Given the description of an element on the screen output the (x, y) to click on. 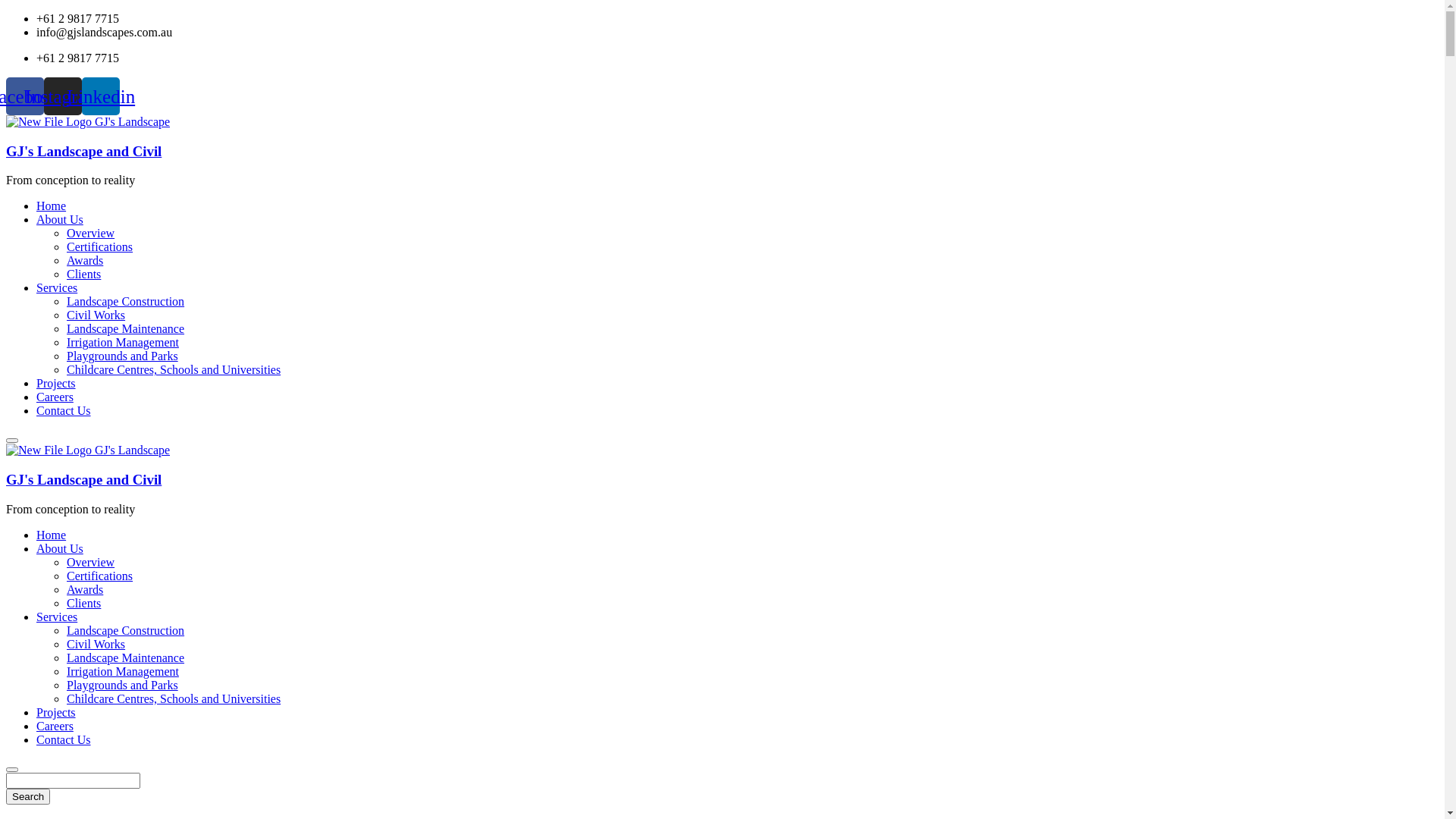
Irrigation Management Element type: text (122, 341)
Home Element type: text (50, 205)
Facebook Element type: text (24, 96)
Landscape Maintenance Element type: text (125, 328)
Civil Works Element type: text (95, 643)
Certifications Element type: text (99, 246)
GJ's Landscape and Civil Element type: hover (87, 121)
Linkedin Element type: text (100, 96)
Projects Element type: text (55, 382)
About Us Element type: text (59, 548)
Instagram Element type: text (62, 96)
Civil Works Element type: text (95, 314)
Contact Us Element type: text (63, 410)
Childcare Centres, Schools and Universities Element type: text (173, 698)
Contact Us Element type: text (63, 739)
Overview Element type: text (90, 232)
Projects Element type: text (55, 712)
Landscape Maintenance Element type: text (125, 657)
Overview Element type: text (90, 561)
Clients Element type: text (83, 273)
Certifications Element type: text (99, 575)
GJ's Landscape and Civil Element type: text (83, 479)
Home Element type: text (50, 534)
Irrigation Management Element type: text (122, 671)
Awards Element type: text (84, 260)
About Us Element type: text (59, 219)
GJ's Landscape and Civil Element type: text (83, 151)
Childcare Centres, Schools and Universities Element type: text (173, 369)
Clients Element type: text (83, 602)
Services Element type: text (56, 287)
Services Element type: text (56, 616)
Playgrounds and Parks Element type: text (122, 355)
Careers Element type: text (54, 725)
Awards Element type: text (84, 589)
Landscape Construction Element type: text (125, 300)
Landscape Construction Element type: text (125, 630)
GJ's Landscape and Civil Element type: hover (87, 449)
Careers Element type: text (54, 396)
Search Element type: text (28, 796)
Playgrounds and Parks Element type: text (122, 684)
